Given the description of an element on the screen output the (x, y) to click on. 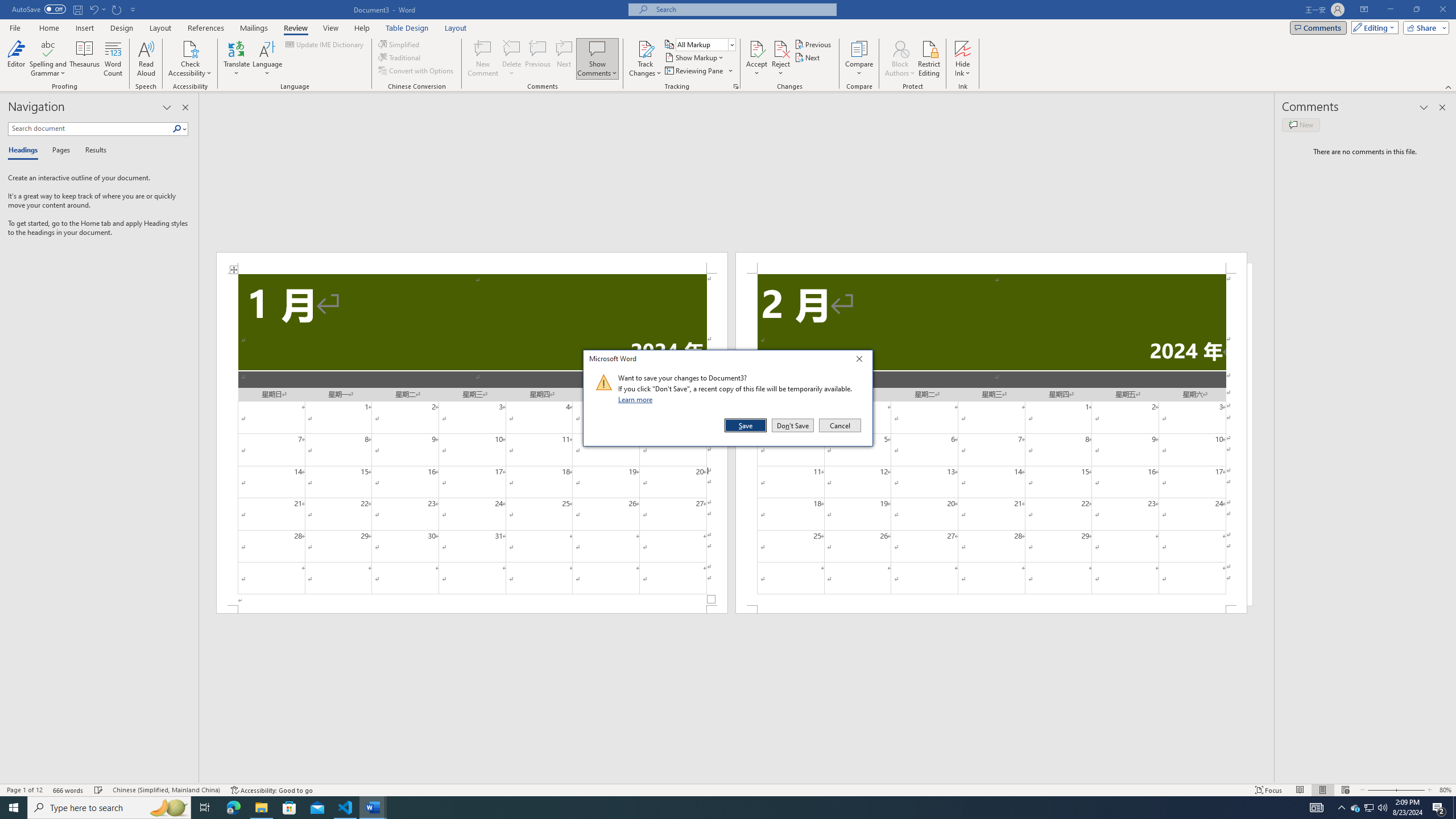
Footer -Section 2- (991, 609)
Show Comments (597, 48)
AutomationID: 4105 (1316, 807)
